Given the description of an element on the screen output the (x, y) to click on. 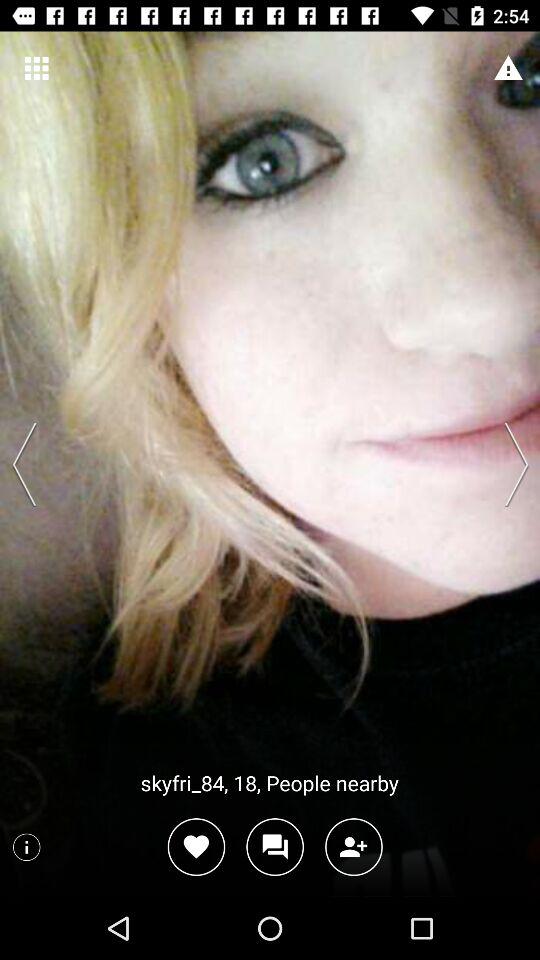
click the icon at the top right corner (508, 67)
